Given the description of an element on the screen output the (x, y) to click on. 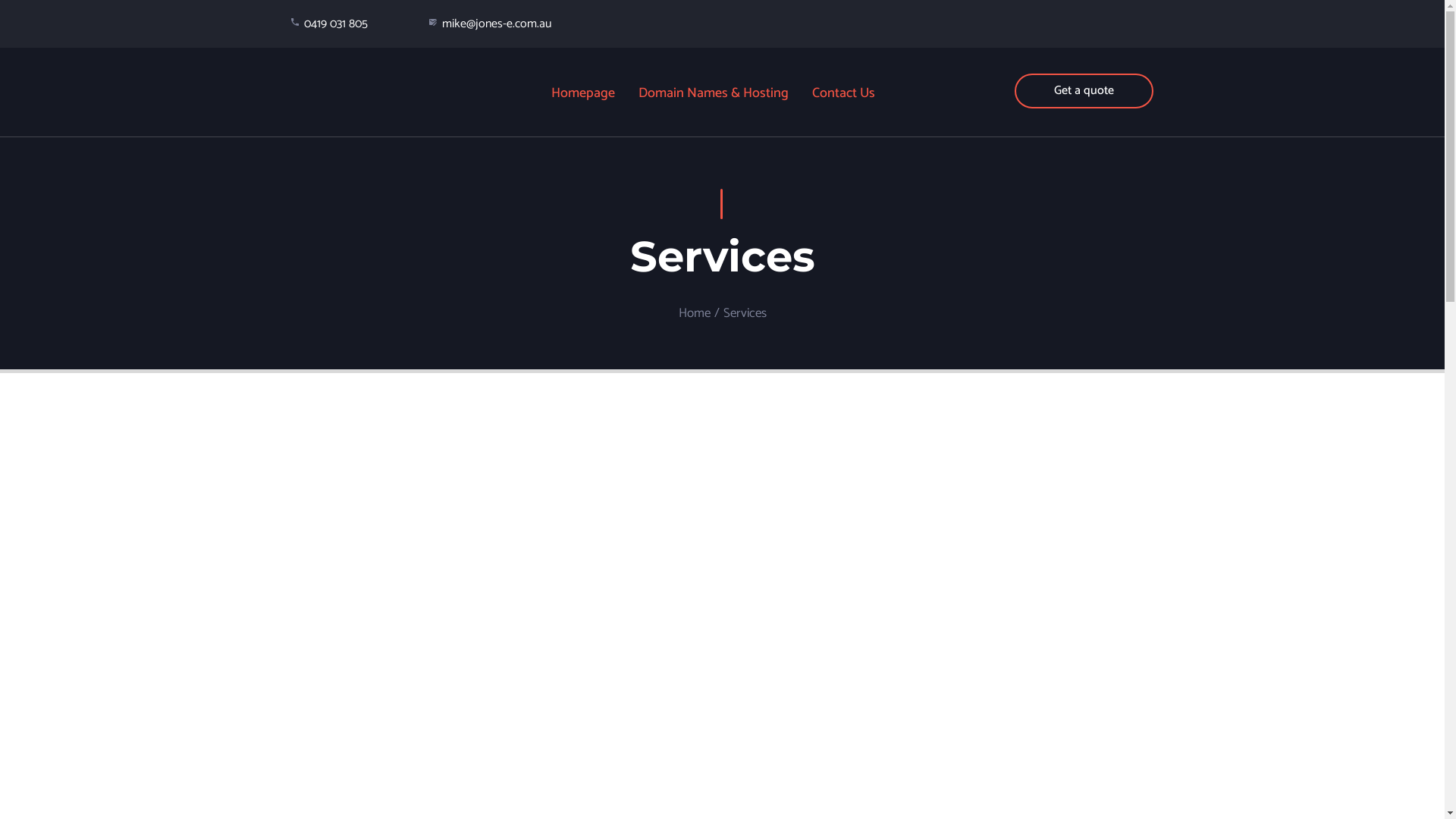
0419 031 805 Element type: text (335, 23)
mike@jones-e.com.au Element type: text (496, 23)
Homepage Element type: text (583, 94)
Contact Us Element type: text (843, 94)
Domain Names & Hosting Element type: text (713, 94)
Home Element type: text (693, 313)
Get a quote Element type: text (1083, 90)
